Given the description of an element on the screen output the (x, y) to click on. 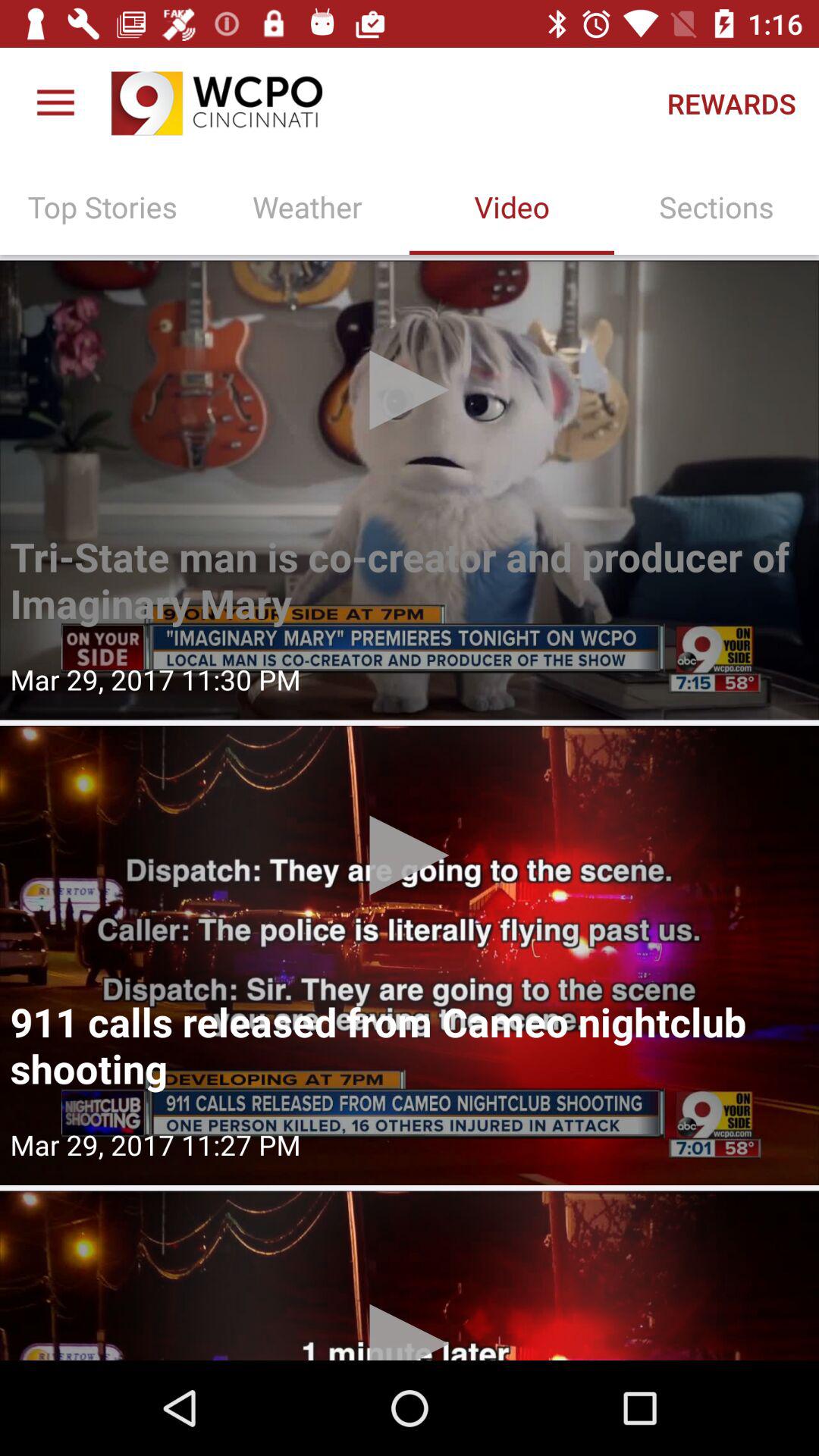
paly video (409, 955)
